Given the description of an element on the screen output the (x, y) to click on. 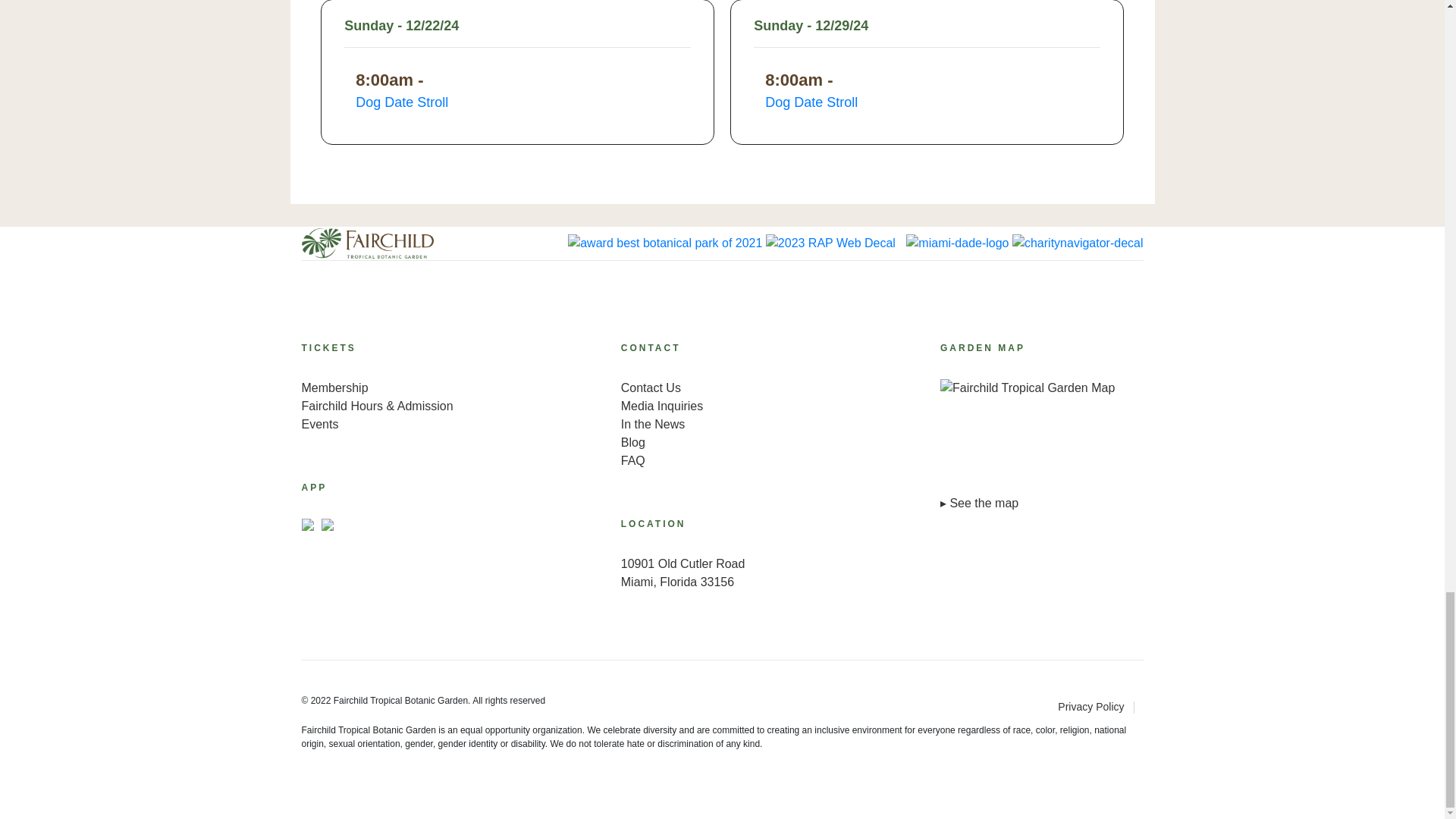
Media Center (722, 443)
Fairchild Tropical Garden - Map (1041, 445)
Privacy Statement (1100, 706)
FAQ (722, 461)
Home (367, 243)
Media Inquiries (722, 406)
Media Center (722, 424)
Contact Us (722, 388)
Events (403, 424)
Membership (403, 388)
